Given the description of an element on the screen output the (x, y) to click on. 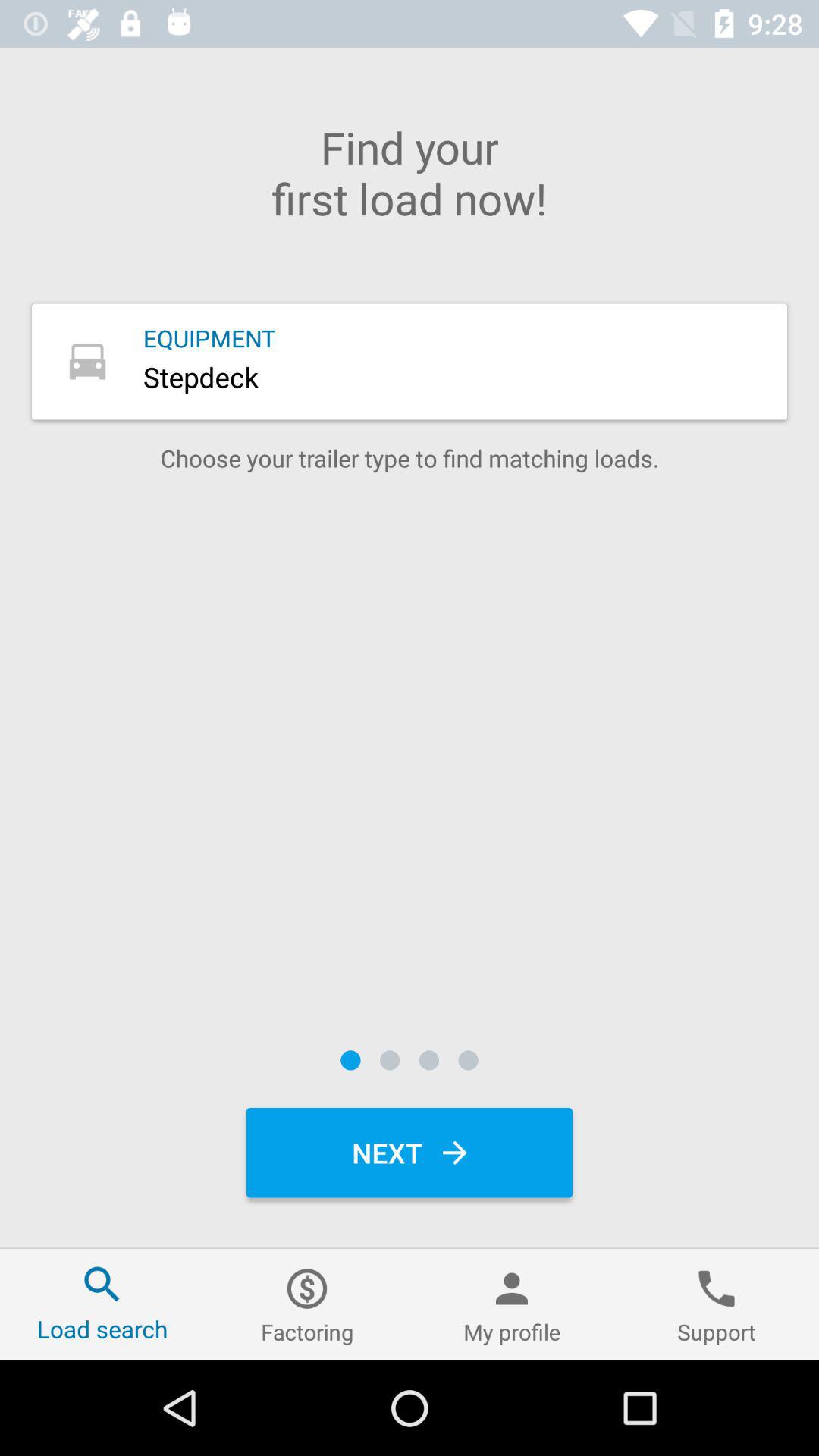
tap the item next to the my profile (716, 1304)
